Given the description of an element on the screen output the (x, y) to click on. 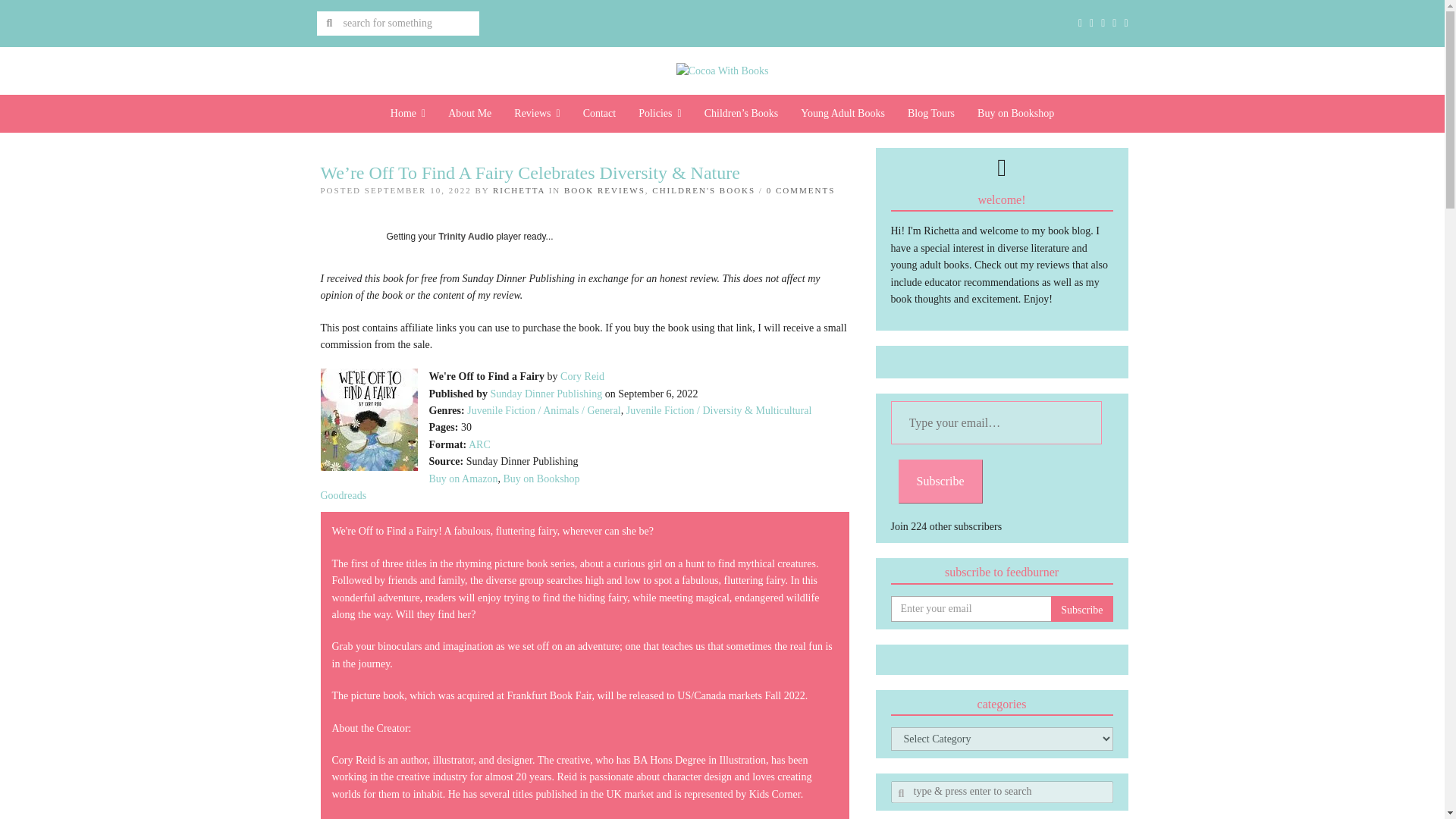
Buy on Amazon (463, 478)
Instagram (1102, 23)
Reviews   (536, 113)
Buy on Bookshop (541, 478)
BOOK REVIEWS (604, 189)
View all posts in Children's Books (703, 189)
View all posts in Book Reviews (604, 189)
Buy on Bookshop (1015, 113)
CHILDREN'S BOOKS (703, 189)
Home   (407, 113)
Sunday Dinner Publishing (545, 393)
Policies   (660, 113)
Please fill in this field. (994, 423)
Twitter (1082, 23)
Subscribe (1081, 608)
